Given the description of an element on the screen output the (x, y) to click on. 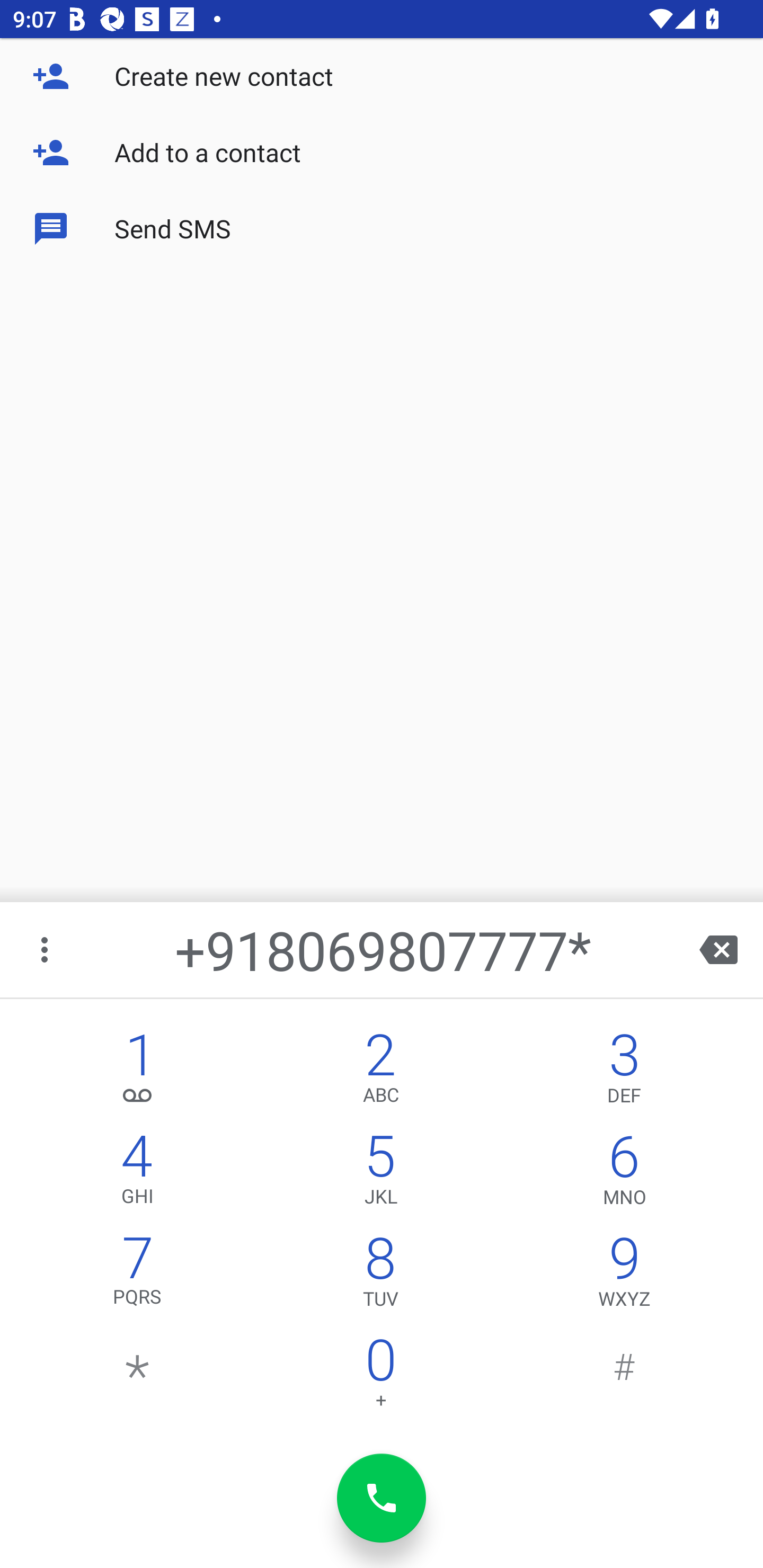
Create new contact (381, 75)
Add to a contact (381, 152)
Send SMS (381, 228)
+918069807777* (382, 949)
backspace (718, 949)
More options (45, 949)
1, 1 (137, 1071)
2,ABC 2 ABC (380, 1071)
3,DEF 3 DEF (624, 1071)
4,GHI 4 GHI (137, 1173)
5,JKL 5 JKL (380, 1173)
6,MNO 6 MNO (624, 1173)
7,PQRS 7 PQRS (137, 1275)
8,TUV 8 TUV (380, 1275)
9,WXYZ 9 WXYZ (624, 1275)
* (137, 1377)
0 0 + (380, 1377)
# (624, 1377)
dial (381, 1497)
